Given the description of an element on the screen output the (x, y) to click on. 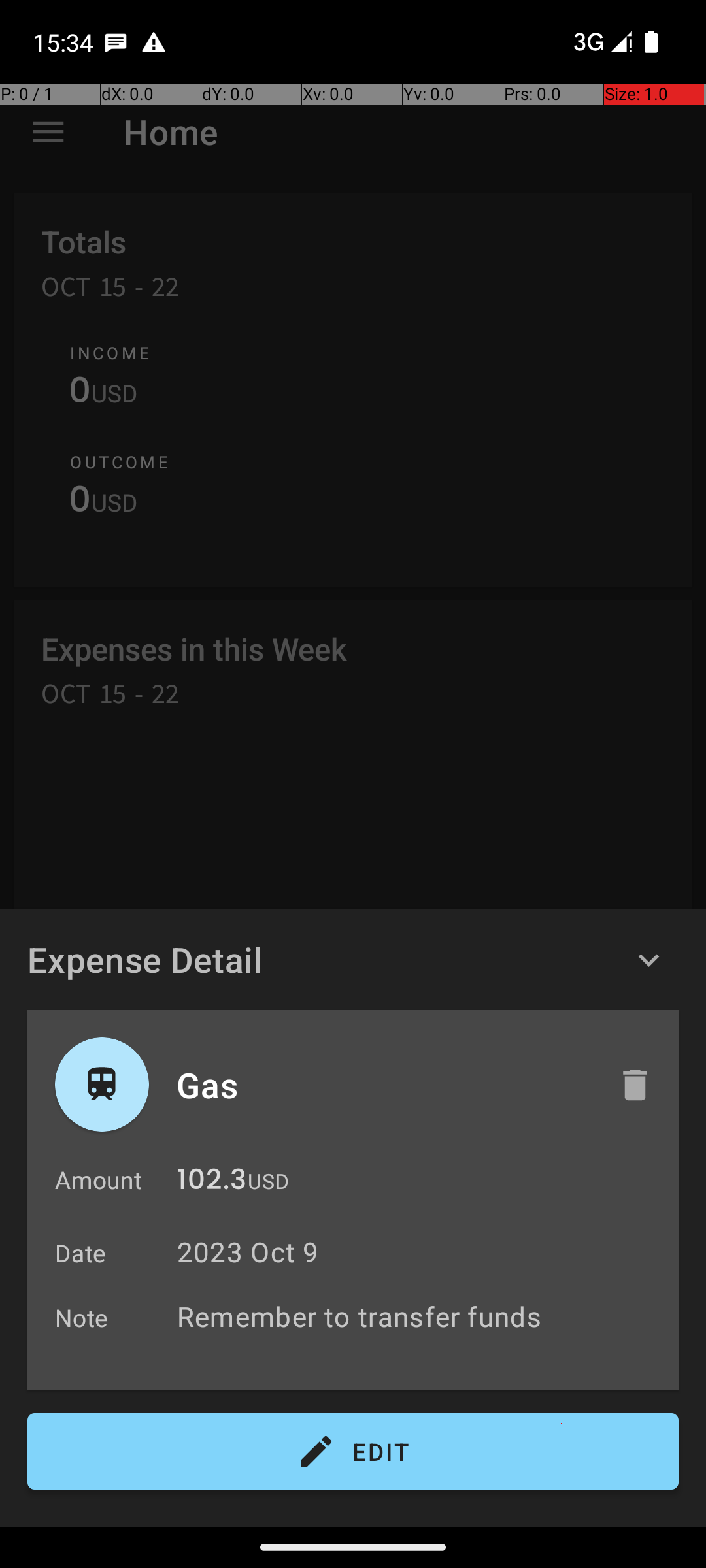
Gas Element type: android.widget.TextView (383, 1084)
102.3 Element type: android.widget.TextView (211, 1182)
2023 Oct 9 Element type: android.widget.TextView (247, 1251)
Remember to transfer funds Element type: android.widget.TextView (420, 1315)
